Given the description of an element on the screen output the (x, y) to click on. 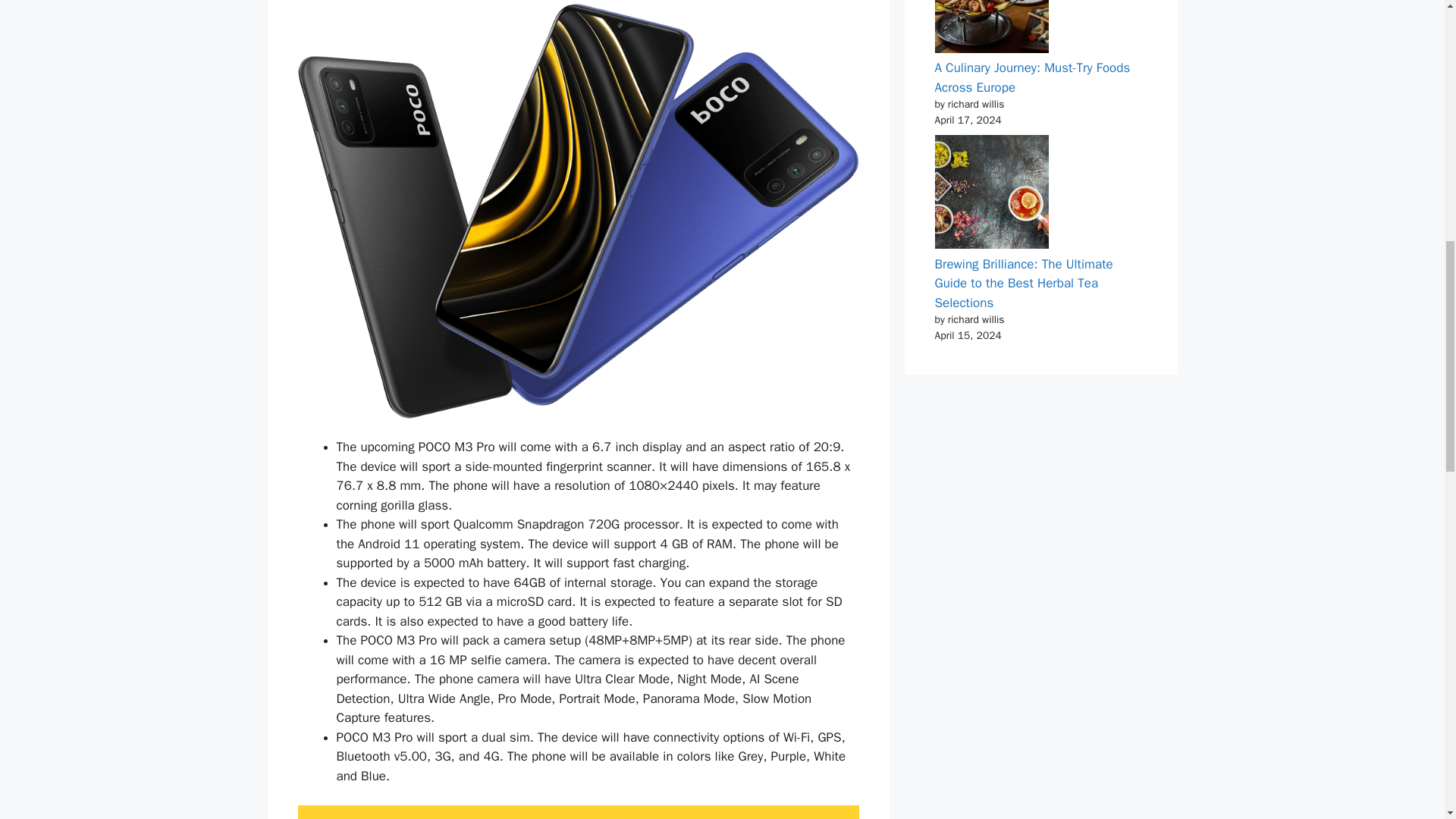
A Culinary Journey: Must-Try Foods Across Europe (1031, 77)
